Given the description of an element on the screen output the (x, y) to click on. 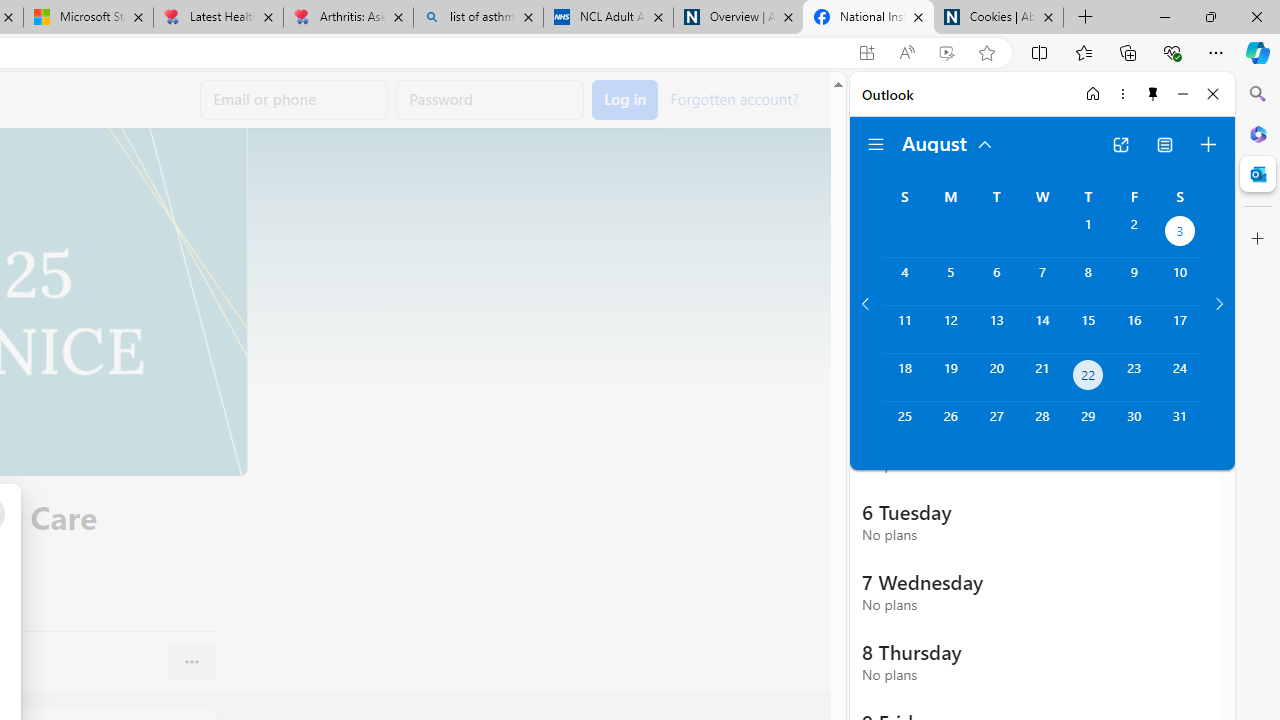
Wednesday, August 7, 2024.  (1042, 281)
Tuesday, August 20, 2024.  (996, 377)
Saturday, August 24, 2024.  (1180, 377)
Enhance video (946, 53)
Saturday, August 10, 2024.  (1180, 281)
Email or phone (294, 99)
